Given the description of an element on the screen output the (x, y) to click on. 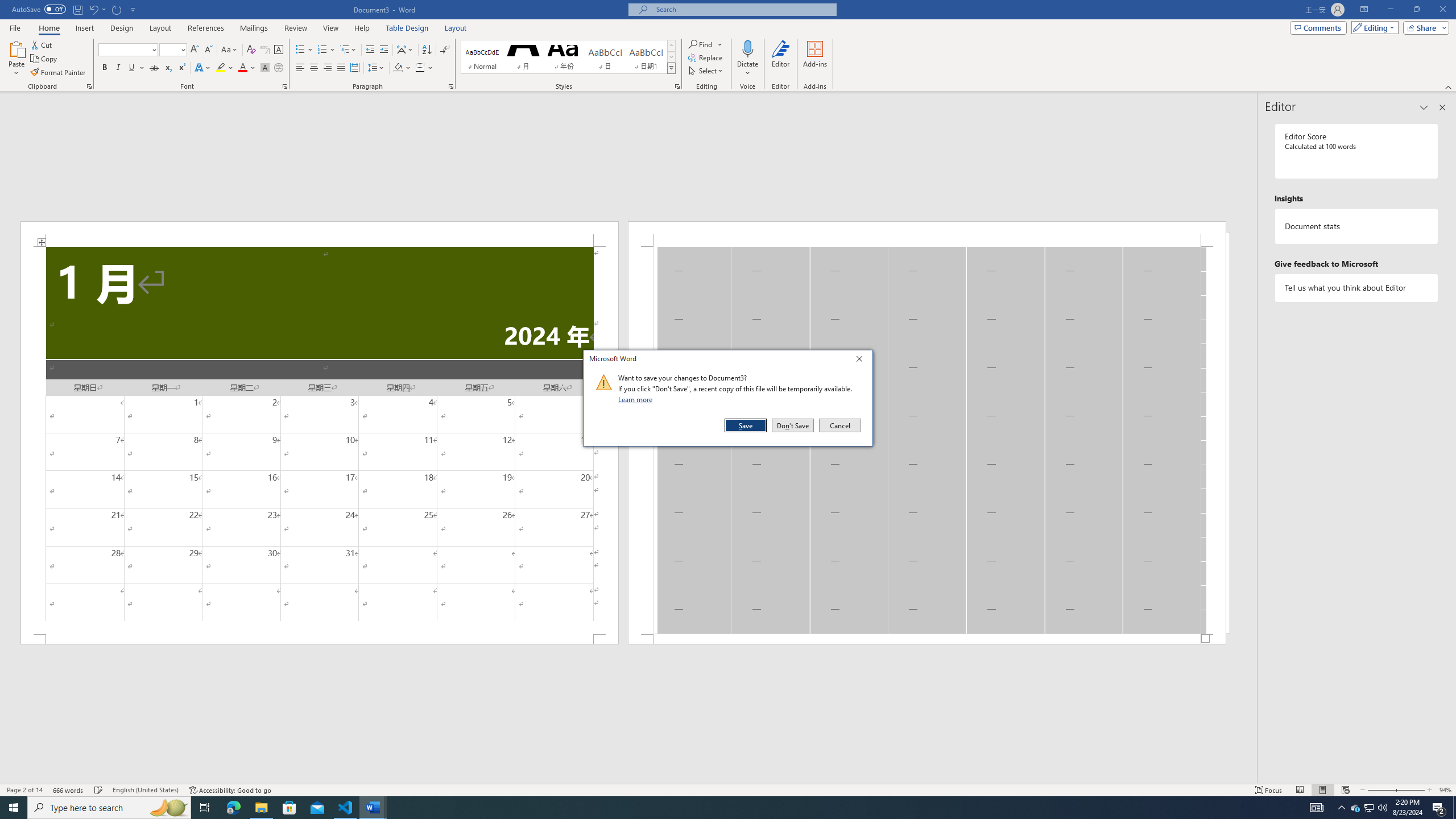
Page Number Page 2 of 14 (24, 790)
Font Color RGB(255, 0, 0) (241, 67)
